Given the description of an element on the screen output the (x, y) to click on. 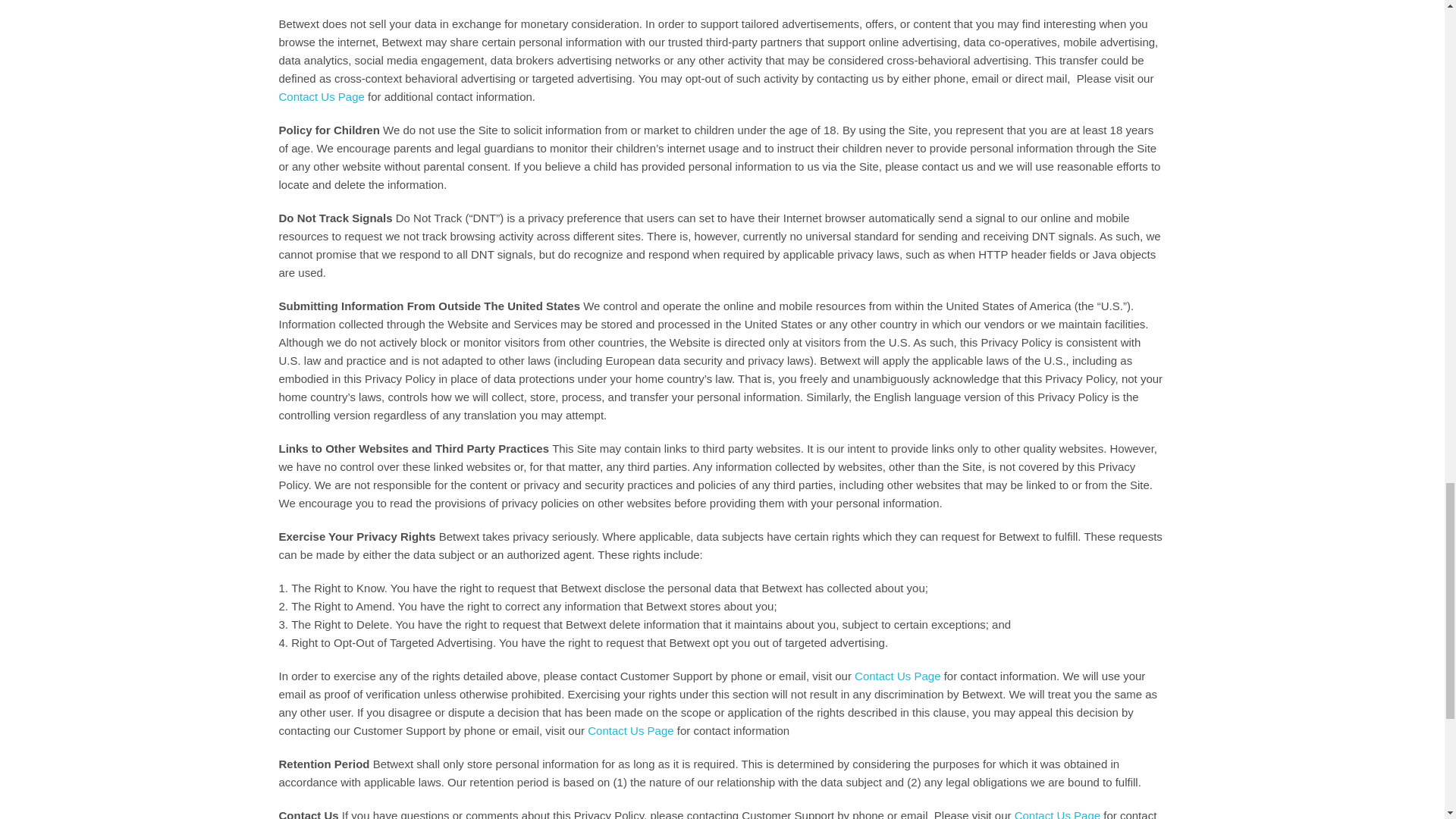
Contact Us Page (322, 96)
Contact Us Page (1057, 814)
Contact Us Page (630, 730)
Contact Us Page (897, 675)
